Given the description of an element on the screen output the (x, y) to click on. 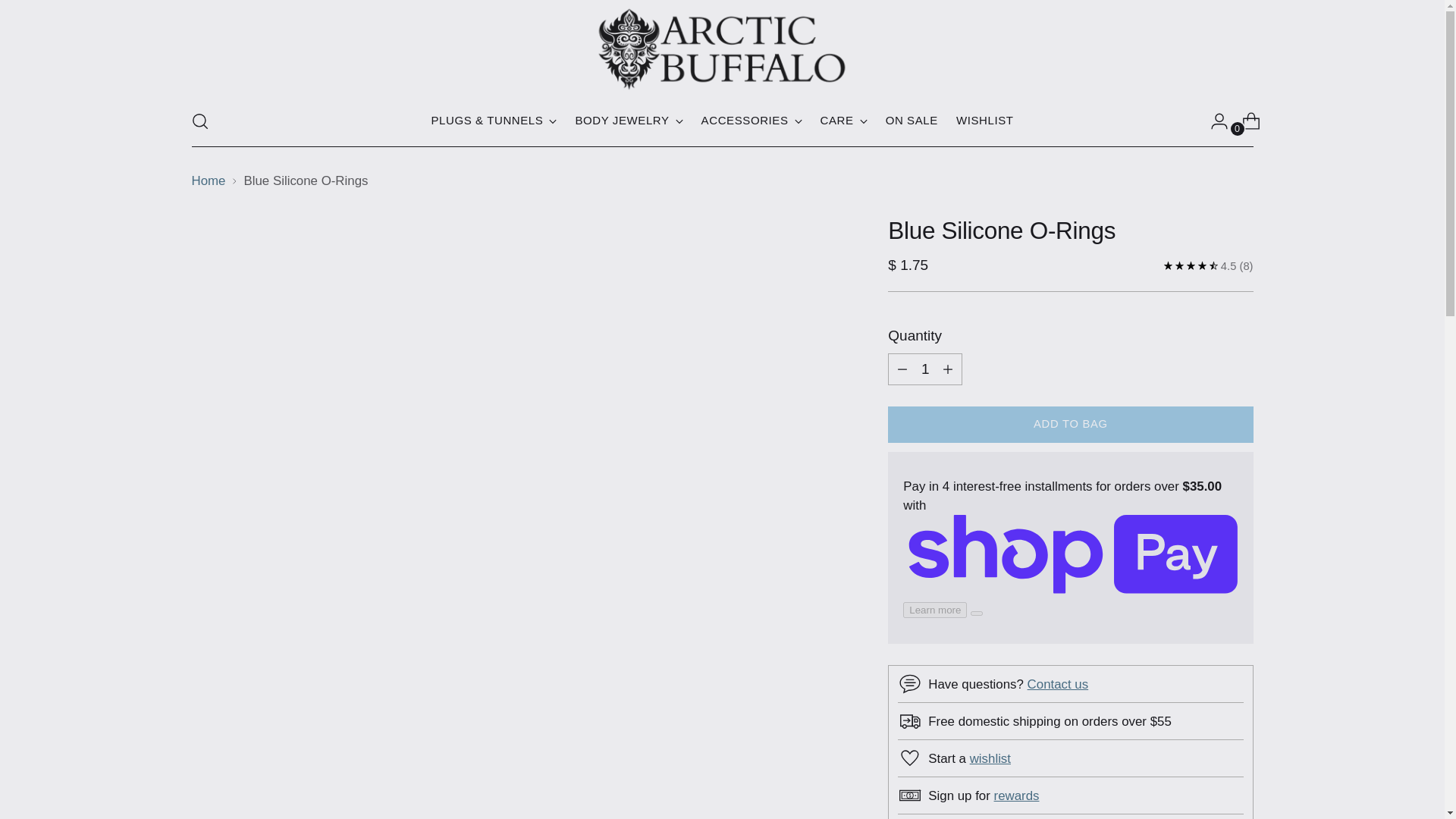
1 (925, 368)
create or view your wishlist (989, 758)
Contact (1058, 684)
